Given the description of an element on the screen output the (x, y) to click on. 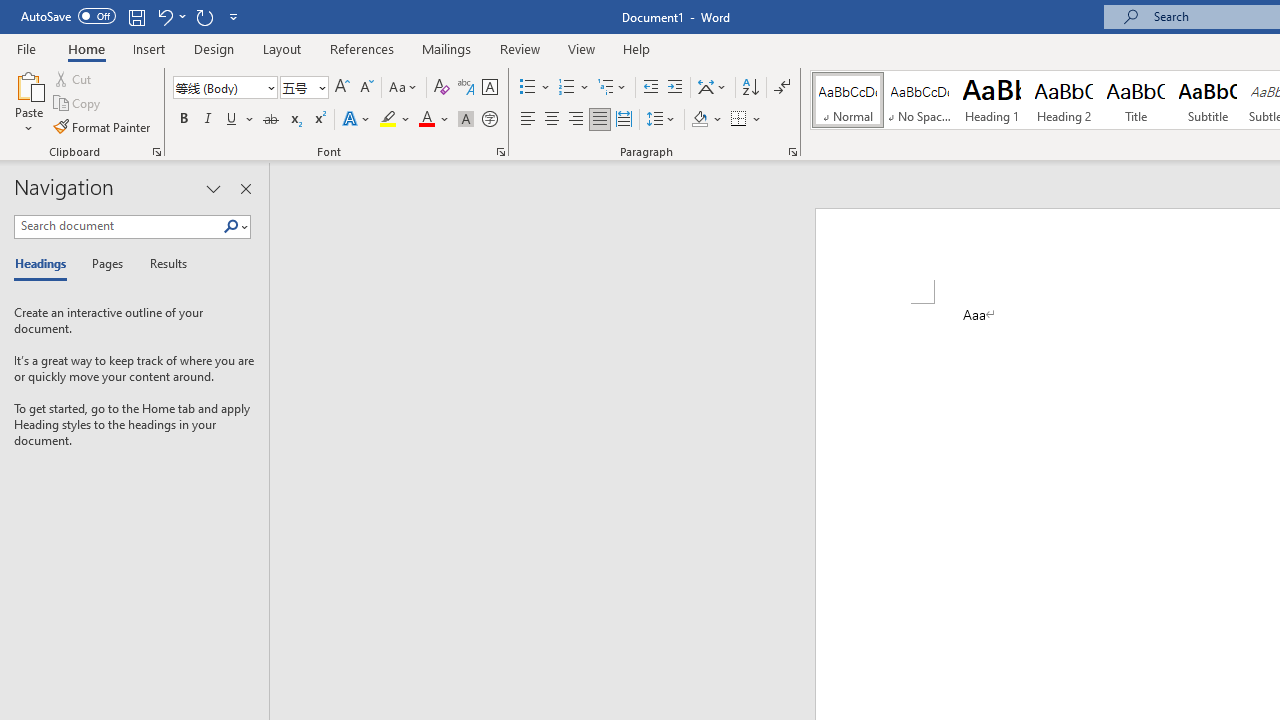
Text Highlight Color Yellow (388, 119)
Cut (73, 78)
Subtitle (1208, 100)
Undo Increase Indent (170, 15)
Sort... (750, 87)
Italic (207, 119)
Heading 2 (1063, 100)
Phonetic Guide... (465, 87)
Decrease Indent (650, 87)
